Given the description of an element on the screen output the (x, y) to click on. 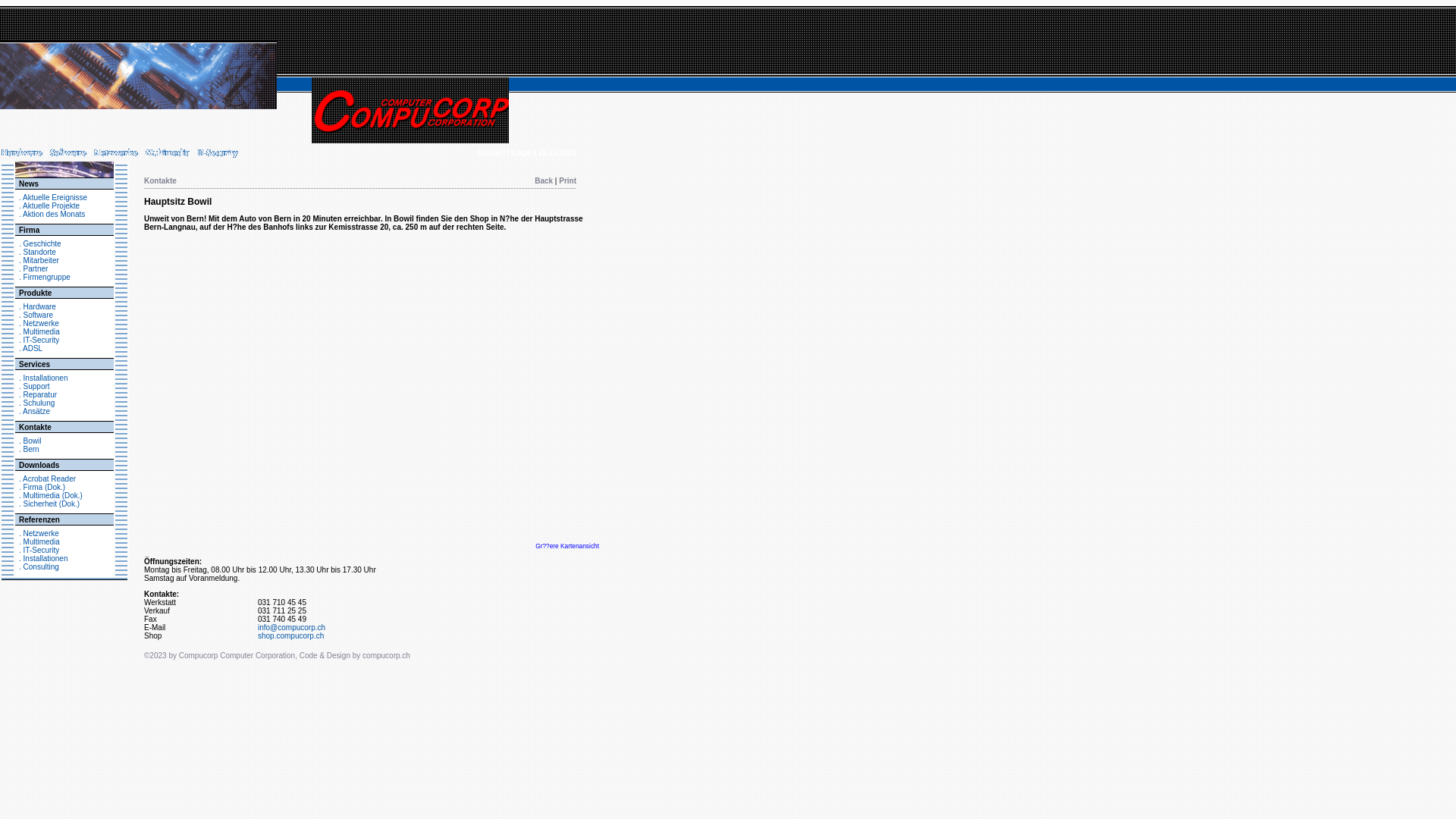
News Element type: text (28, 182)
Services Element type: text (34, 363)
Firma Element type: text (28, 229)
. Mitarbeiter Element type: text (38, 260)
Compucorp Computer Corporation Element type: text (236, 655)
. Standorte Element type: text (37, 251)
compucorp.ch Element type: text (386, 655)
Referenzen Element type: text (38, 519)
. Aktion des Monats Element type: text (51, 214)
Kontakte Element type: text (34, 427)
. Schulung Element type: text (36, 402)
info@compucorp.ch Element type: text (291, 627)
Print Element type: text (567, 180)
. Software Element type: text (35, 314)
. Reparatur Element type: text (37, 394)
. Netzwerke Element type: text (38, 323)
. Netzwerke Element type: text (38, 533)
. Hardware Element type: text (37, 306)
. Consulting Element type: text (38, 566)
shop.compucorp.ch Element type: text (290, 635)
. Multimedia (Dok.) Element type: text (50, 495)
. Multimedia Element type: text (38, 331)
. Firmengruppe Element type: text (44, 277)
. Multimedia Element type: text (38, 541)
Contact Element type: text (490, 152)
. ADSL Element type: text (30, 348)
. Sicherheit (Dok.) Element type: text (48, 503)
. Geschichte Element type: text (39, 243)
Downloads Element type: text (38, 465)
. IT-Security Element type: text (38, 550)
. Aktuelle Ereignisse Element type: text (52, 197)
. Aktuelle Projekte Element type: text (48, 205)
. IT-Security Element type: text (38, 339)
. Installationen Element type: text (43, 558)
. Support Element type: text (34, 386)
. Partner Element type: text (32, 268)
. Bern Element type: text (28, 449)
. Bowil Element type: text (29, 440)
Login Element type: text (521, 152)
Produkte Element type: text (34, 292)
Gr??ere Kartenansicht Element type: text (567, 545)
. Acrobat Reader Element type: text (46, 478)
Back Element type: text (543, 180)
. Firma (Dok.) Element type: text (41, 487)
. Installationen Element type: text (43, 377)
